Given the description of an element on the screen output the (x, y) to click on. 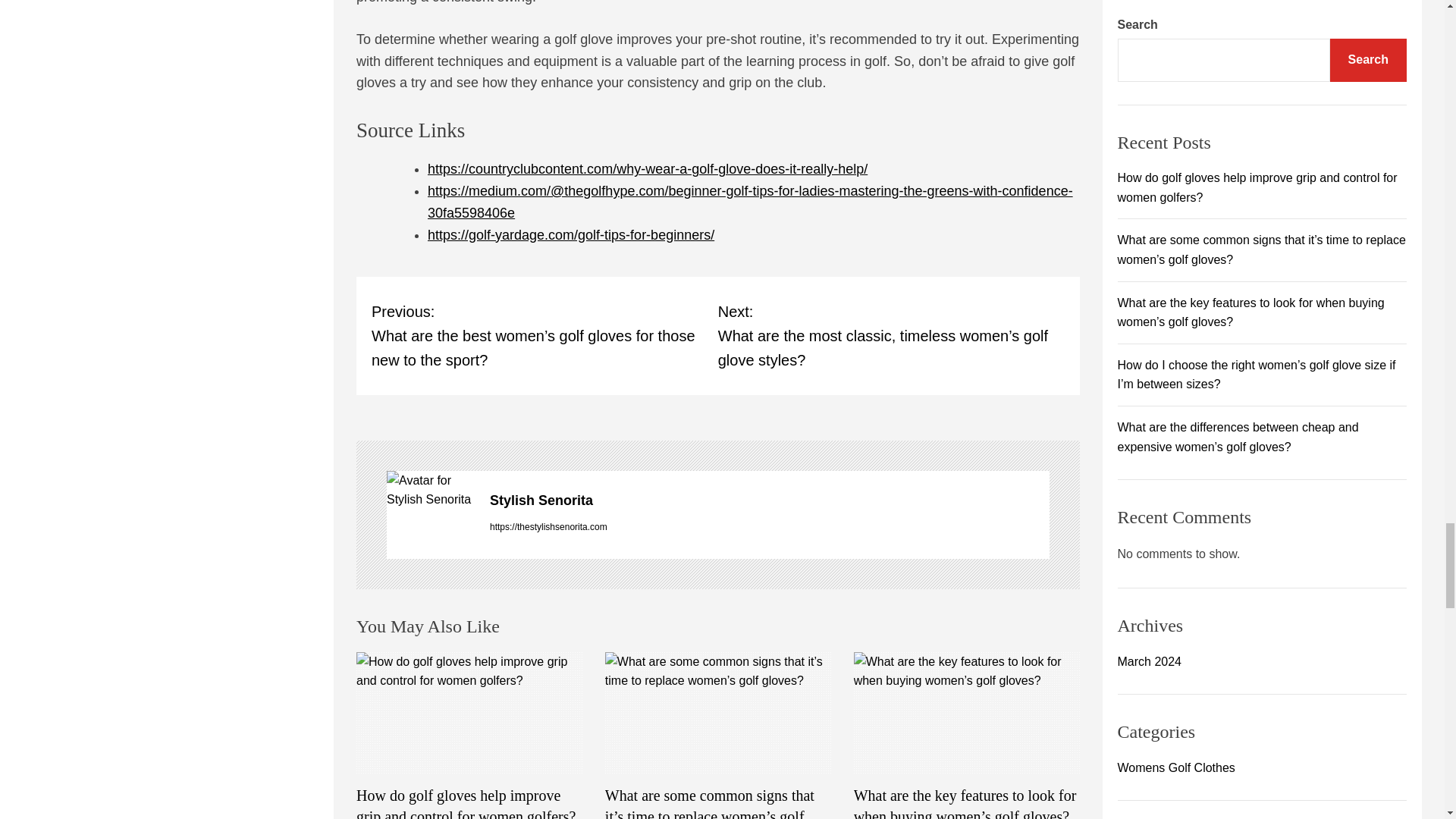
Stylish Senorita (769, 500)
Stylish Senorita (430, 489)
Stylish Senorita (769, 500)
